Given the description of an element on the screen output the (x, y) to click on. 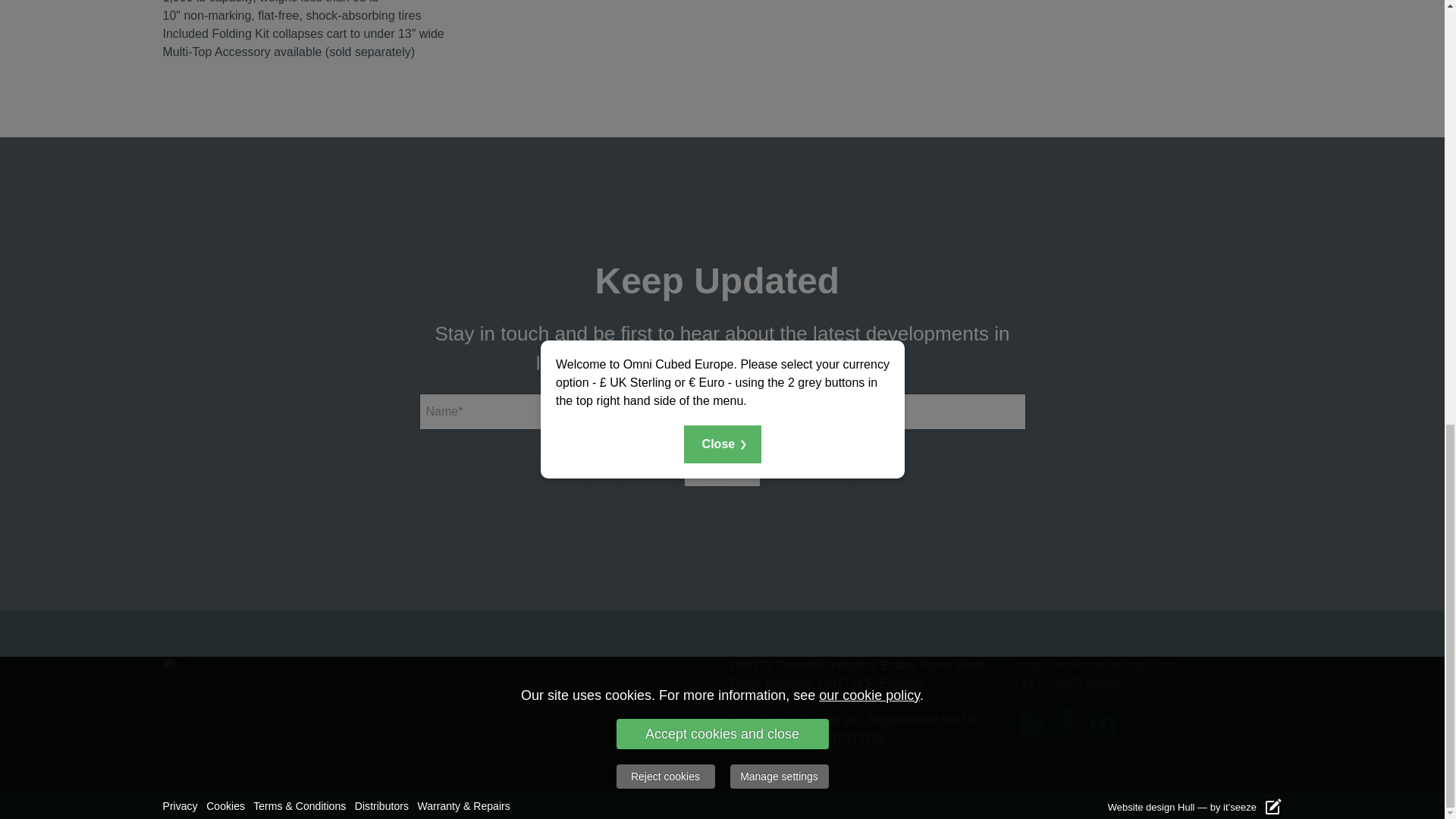
Distributors (382, 805)
Cookies (225, 805)
Send (721, 467)
Privacy (178, 805)
